Given the description of an element on the screen output the (x, y) to click on. 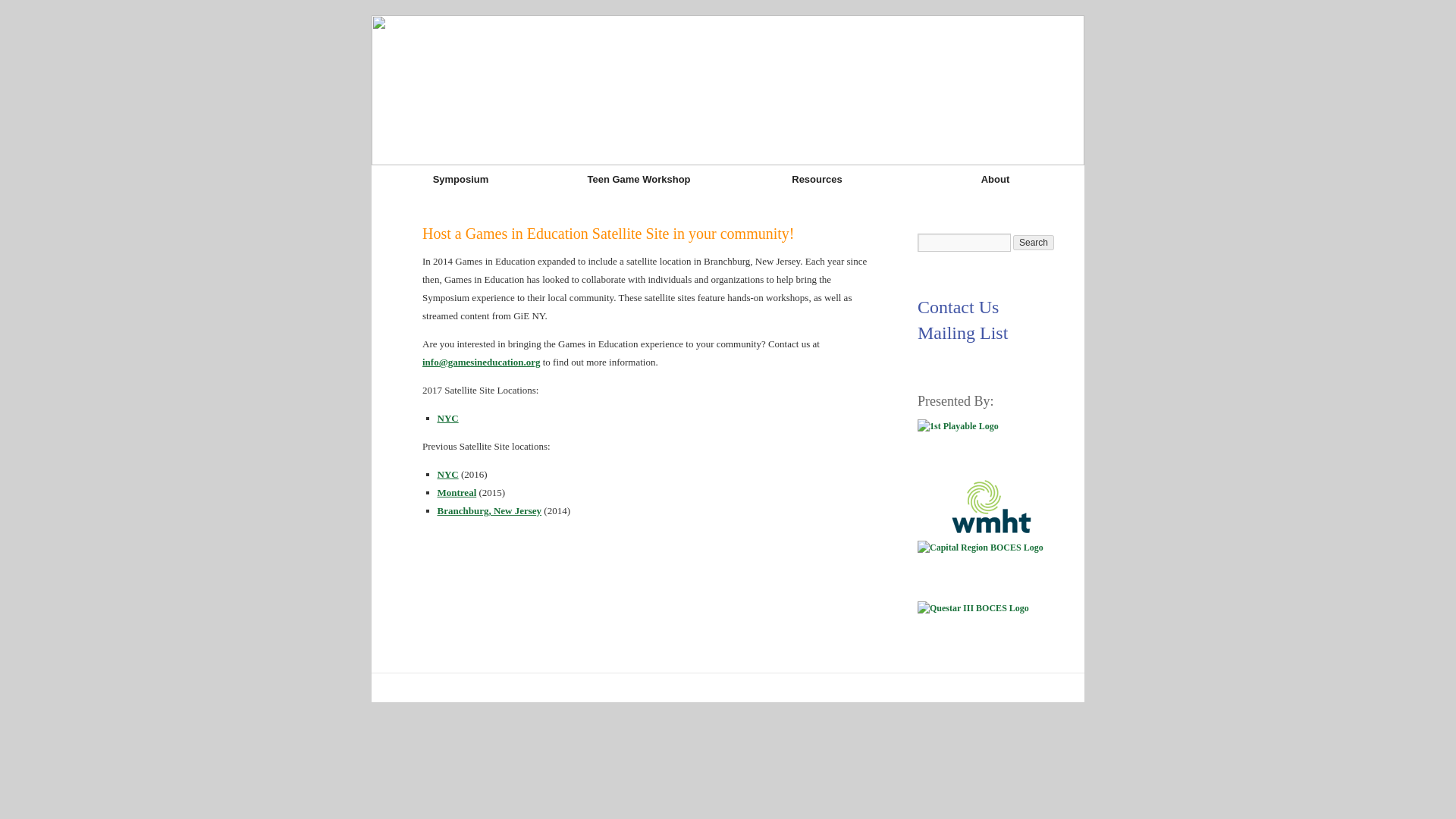
Search (1033, 242)
Montreal (456, 491)
New Jersey (488, 510)
Resources (816, 179)
Symposium (460, 179)
NYC (447, 418)
Teen Game Workshop (639, 179)
NYC (447, 473)
